Given the description of an element on the screen output the (x, y) to click on. 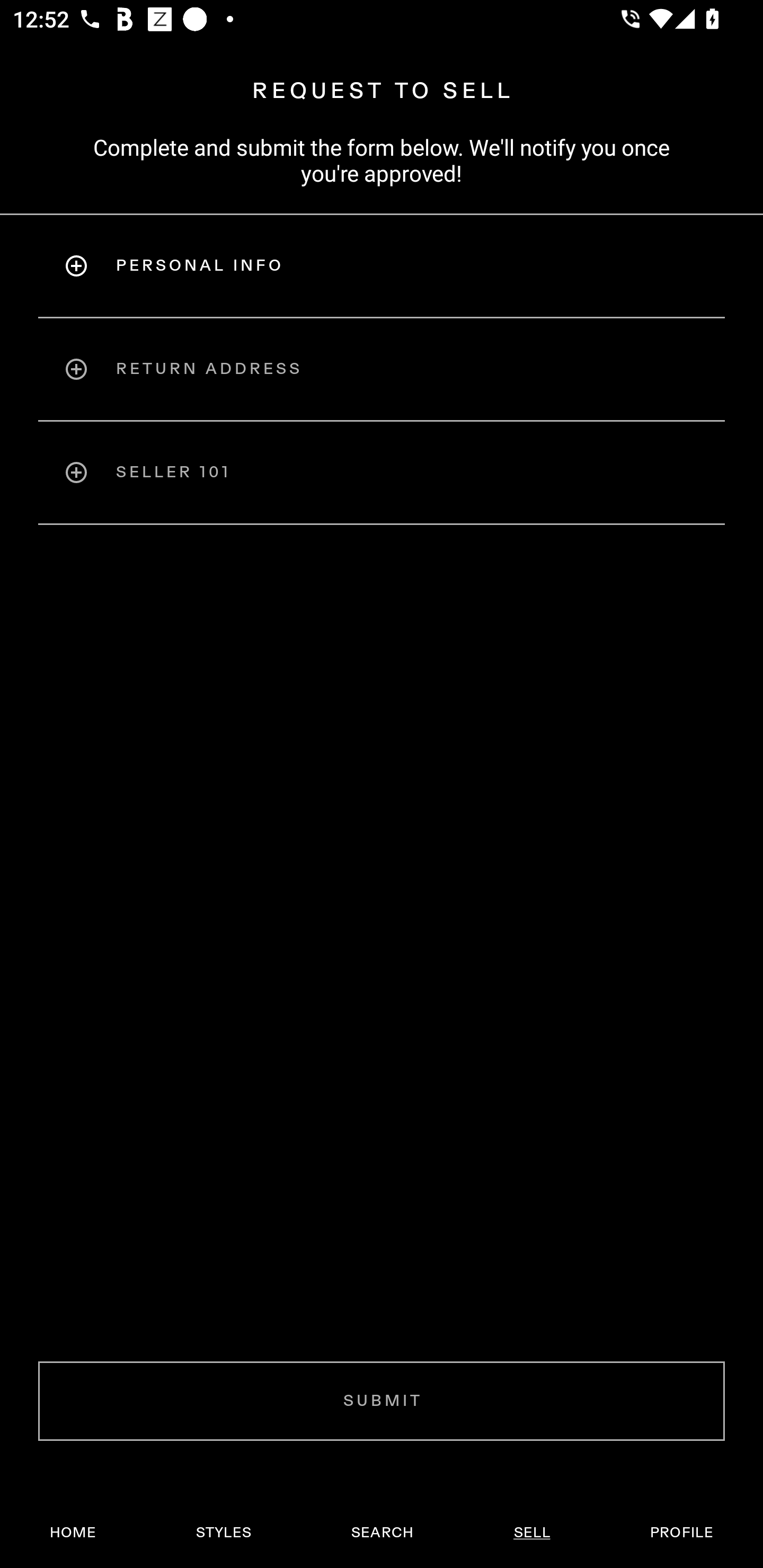
PERSONAL INFO (381, 265)
RETURN ADDRESS (381, 369)
SELLER 101 (381, 472)
SUBMIT (381, 1400)
HOME (72, 1532)
STYLES (222, 1532)
SEARCH (381, 1532)
SELL (531, 1532)
PROFILE (681, 1532)
